Given the description of an element on the screen output the (x, y) to click on. 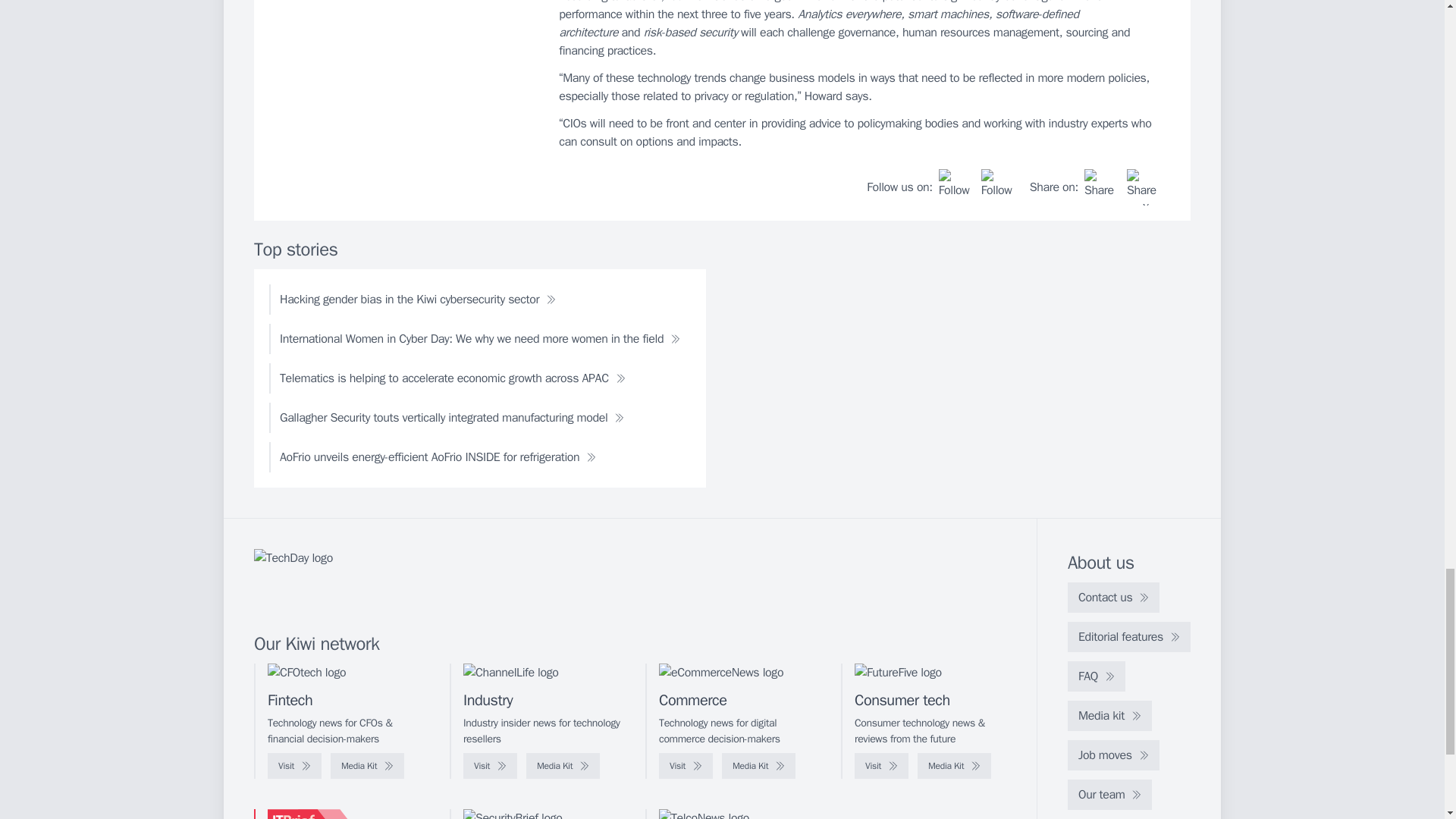
Visit (489, 765)
Hacking gender bias in the Kiwi cybersecurity sector (417, 299)
Media Kit (954, 765)
Media Kit (367, 765)
Media Kit (562, 765)
Visit (881, 765)
